Given the description of an element on the screen output the (x, y) to click on. 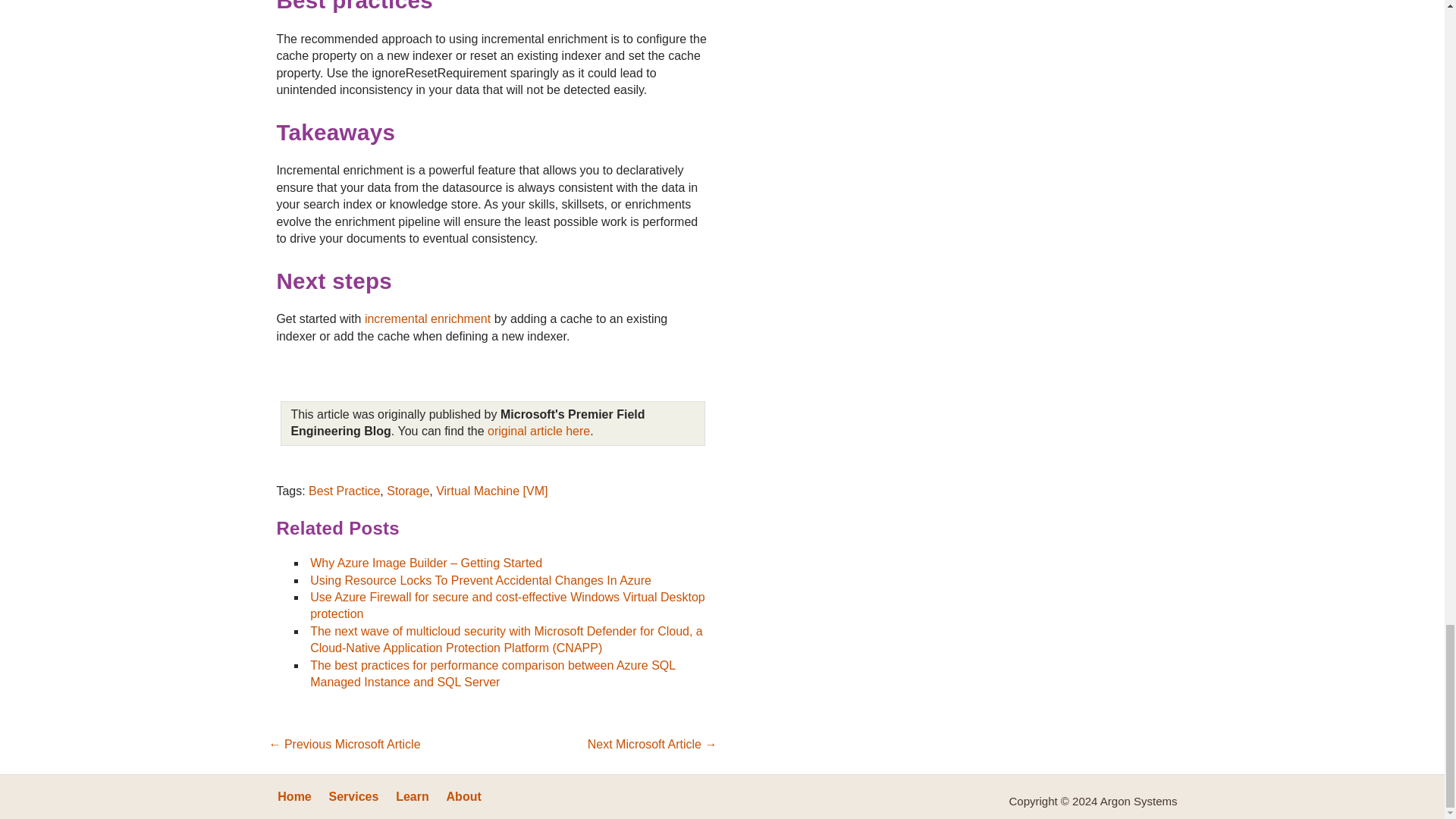
incremental enrichment (427, 318)
Storage (408, 490)
original article here (538, 431)
Best Practice (344, 490)
